Given the description of an element on the screen output the (x, y) to click on. 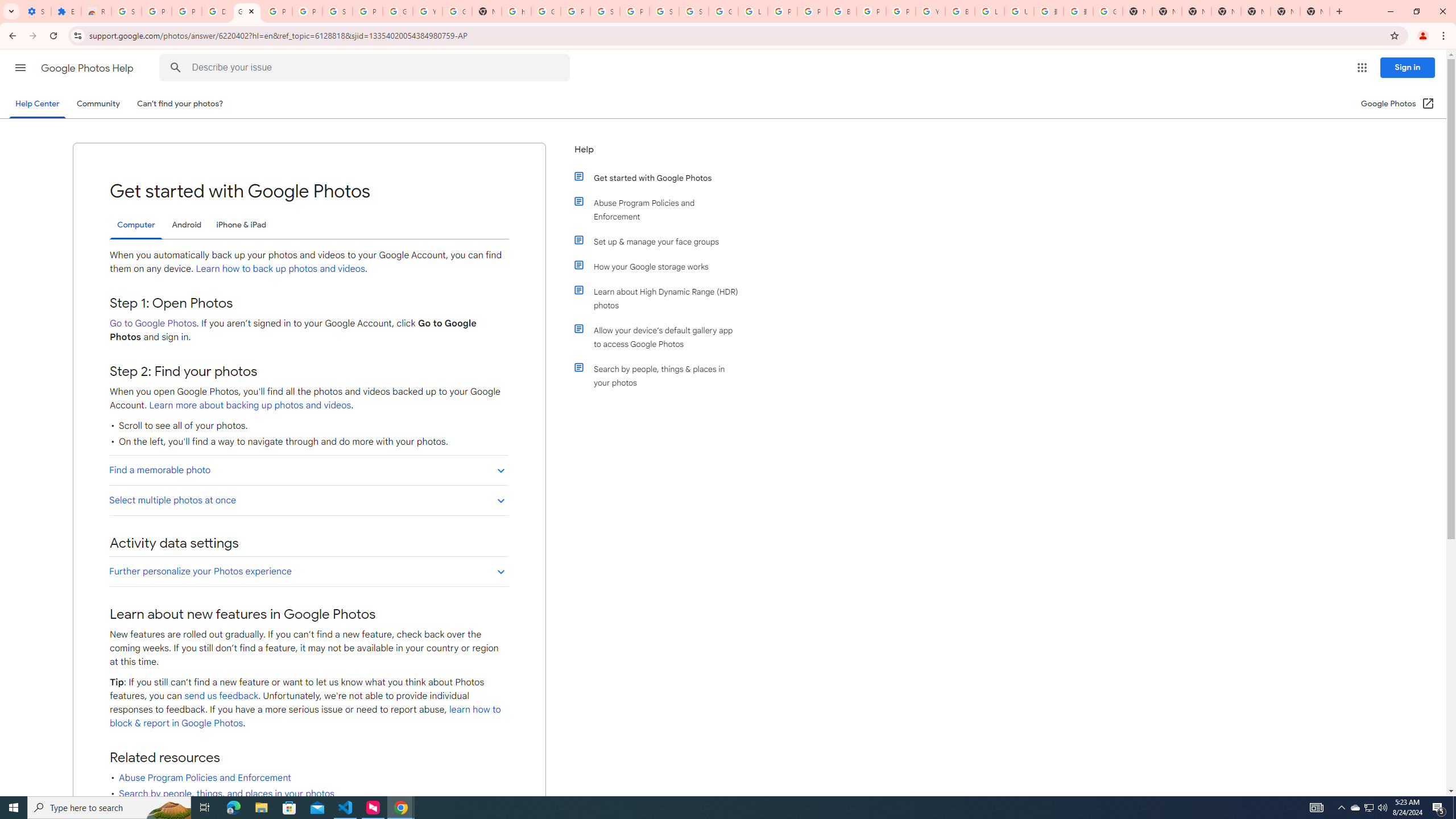
learn how to block & report in Google Photos (304, 716)
Search Help Center (176, 67)
Go to Google Photos (152, 323)
Android (186, 224)
Learn how to back up photos and videos (280, 268)
